Given the description of an element on the screen output the (x, y) to click on. 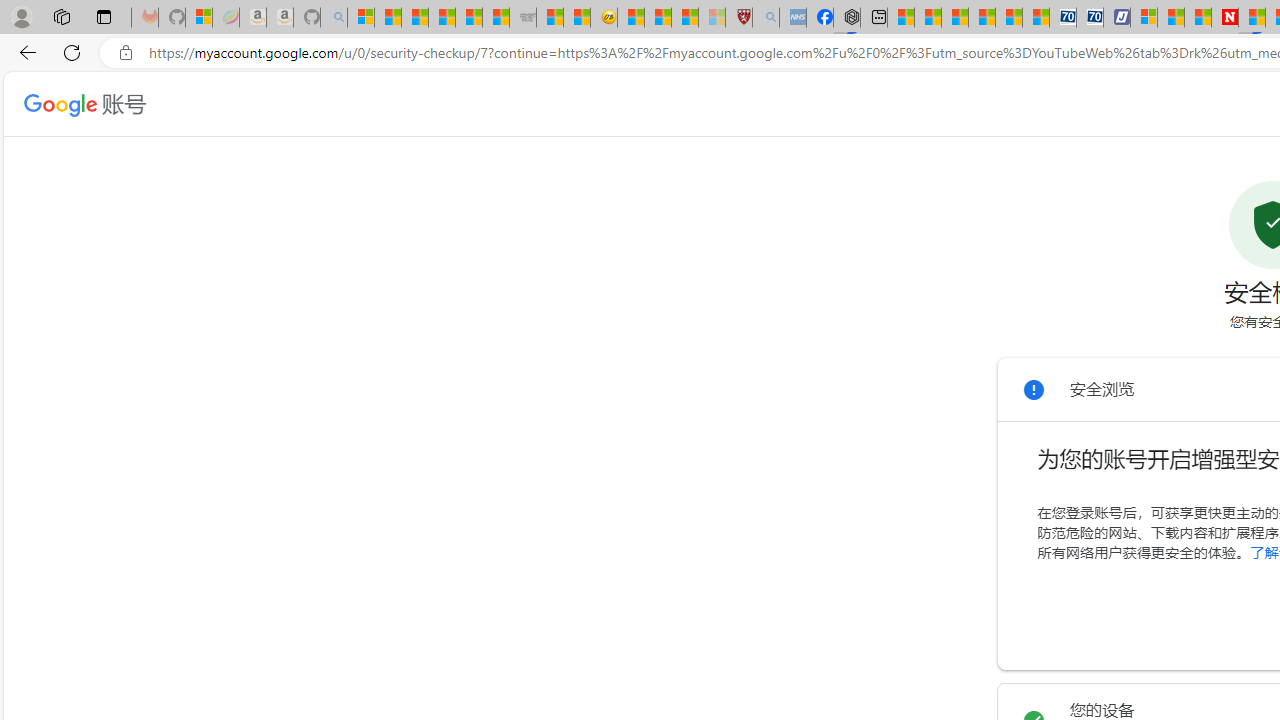
12 Popular Science Lies that Must be Corrected - Sleeping (711, 17)
Cheap Hotels - Save70.com (1089, 17)
